Given the description of an element on the screen output the (x, y) to click on. 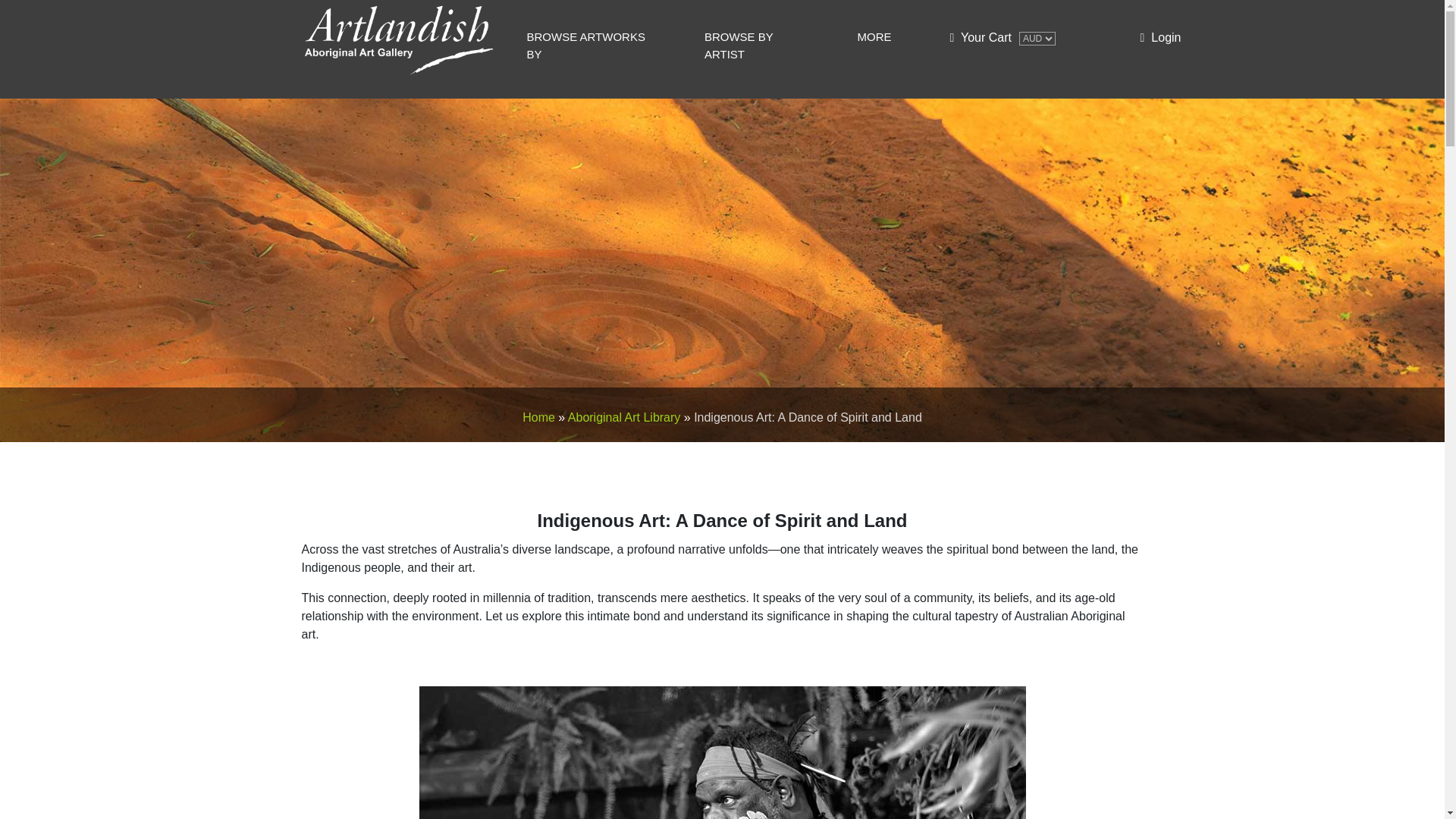
BROWSE BY ARTIST (772, 45)
Currency (1037, 38)
Cart View (979, 37)
 Your Cart (979, 37)
MORE (887, 36)
  Login (1160, 37)
Artlandish Aboriginal Art (365, 88)
BROWSE ARTWORKS BY (605, 45)
